Given the description of an element on the screen output the (x, y) to click on. 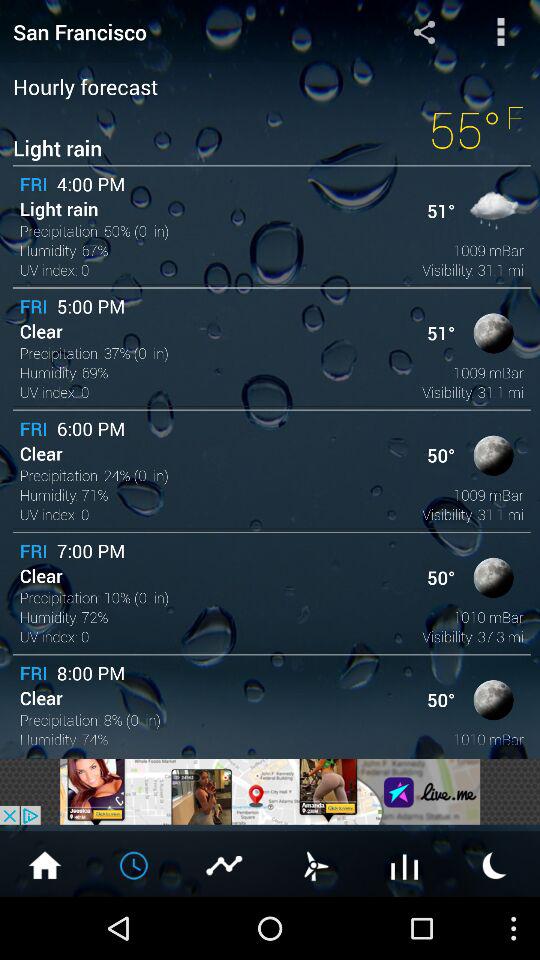
turn off icon above hourly forecast icon (500, 31)
